Given the description of an element on the screen output the (x, y) to click on. 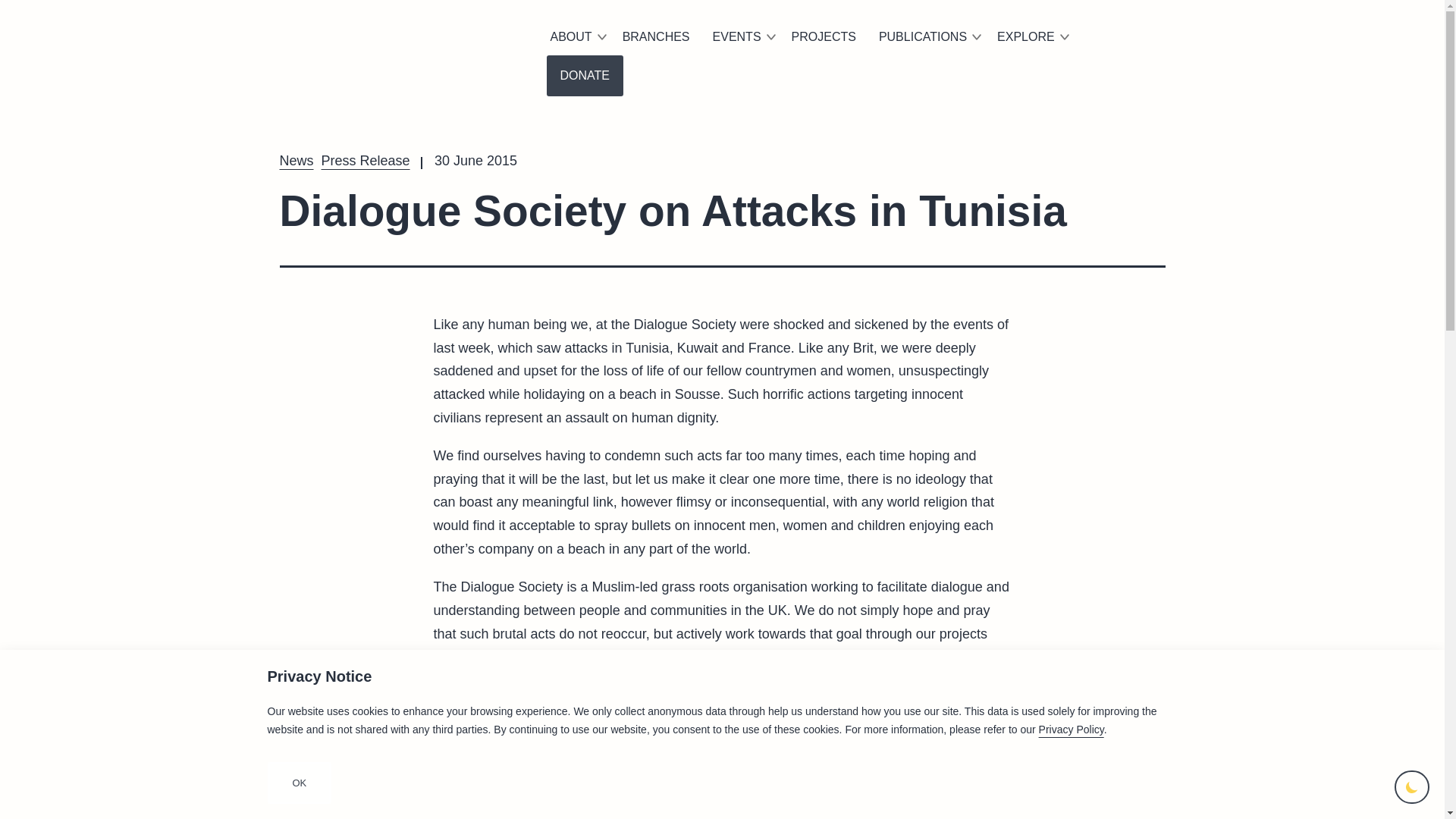
BRANCHES (656, 36)
Dialogue Society Privacy Policy (1071, 729)
ABOUT (574, 36)
News (296, 160)
Dialogue Society (392, 41)
EXPLORE (1029, 36)
PROJECTS (823, 36)
EVENTS (740, 36)
Press Release (365, 160)
DONATE (584, 75)
PUBLICATIONS (926, 36)
